Given the description of an element on the screen output the (x, y) to click on. 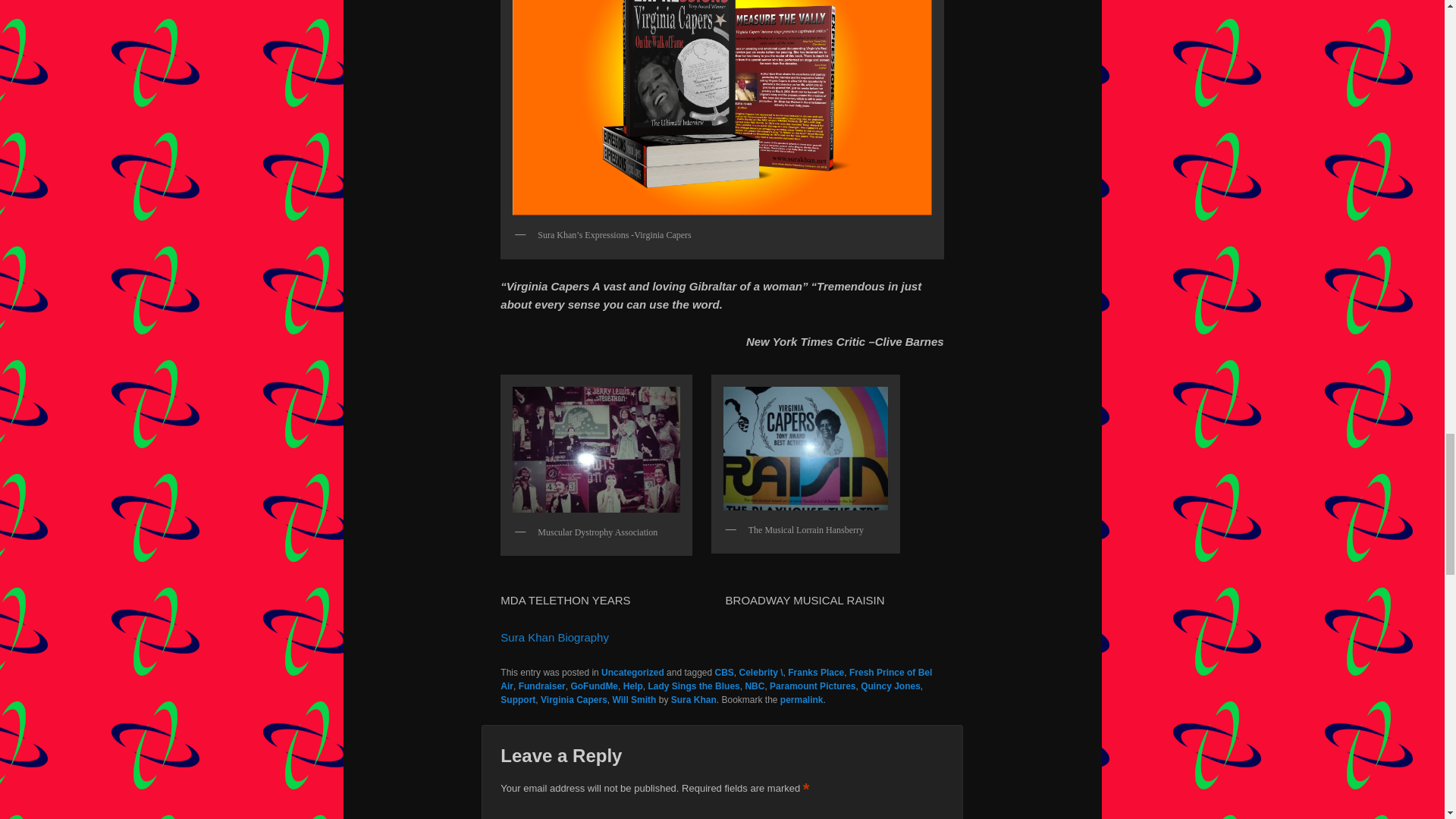
Fundraiser (542, 685)
Sura Khan Biography (555, 636)
Support (517, 699)
Paramount Pictures (813, 685)
Lady Sings the Blues (693, 685)
Help (633, 685)
Uncategorized (632, 672)
Fresh Prince of Bel Air (715, 679)
NBC (754, 685)
